Given the description of an element on the screen output the (x, y) to click on. 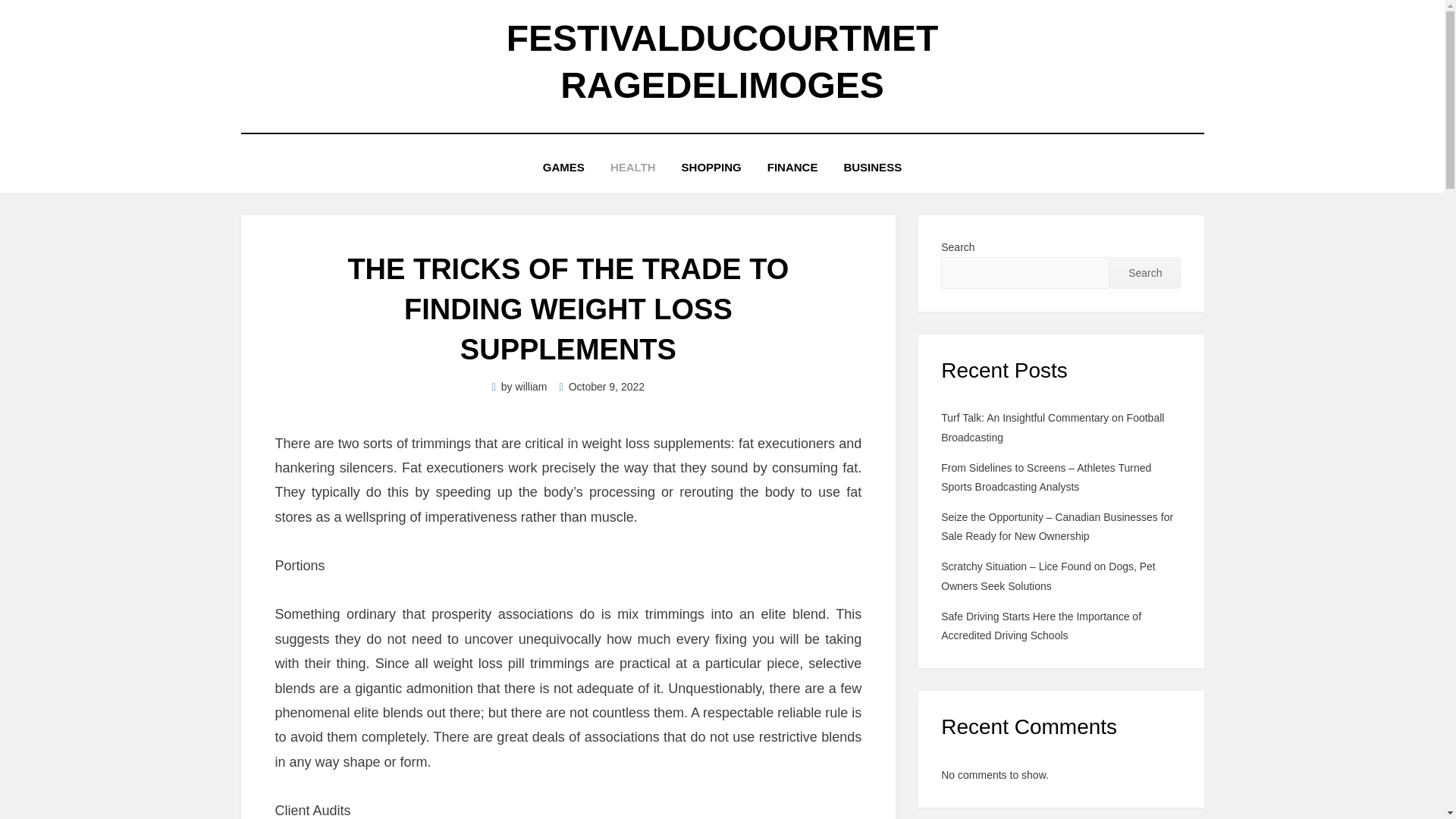
FINANCE (792, 167)
william (531, 386)
BUSINESS (871, 167)
SHOPPING (711, 167)
GAMES (562, 167)
Search (1144, 273)
Festivalducourtmetragedelimoges (722, 61)
October 9, 2022 (602, 386)
Turf Talk: An Insightful Commentary on Football Broadcasting (1051, 427)
